Given the description of an element on the screen output the (x, y) to click on. 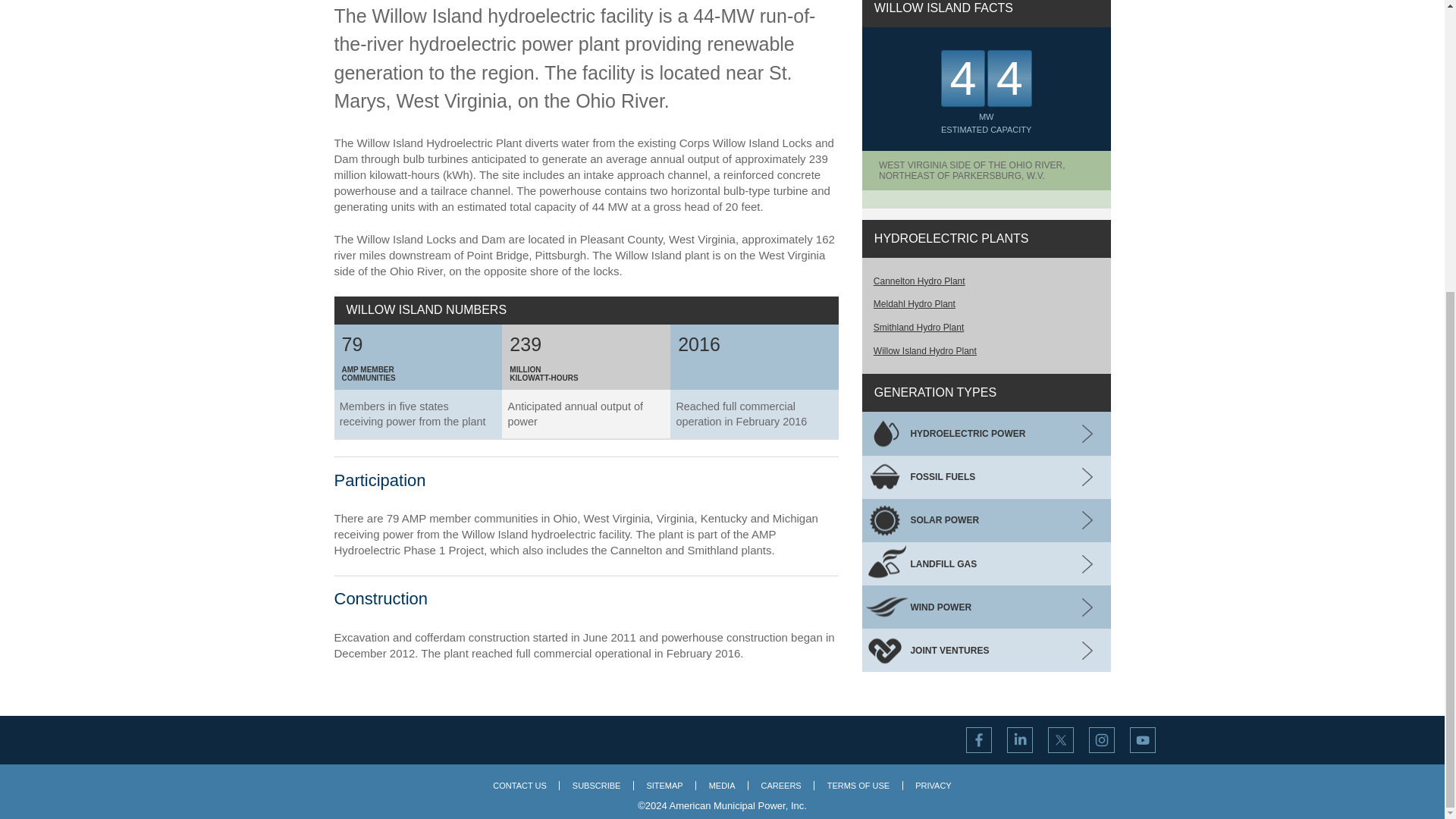
X-Twitter Logo Updated (1060, 740)
Instagram (1101, 740)
LinkedIn (1019, 740)
Facebook (978, 740)
youtube-logo (1142, 740)
